Given the description of an element on the screen output the (x, y) to click on. 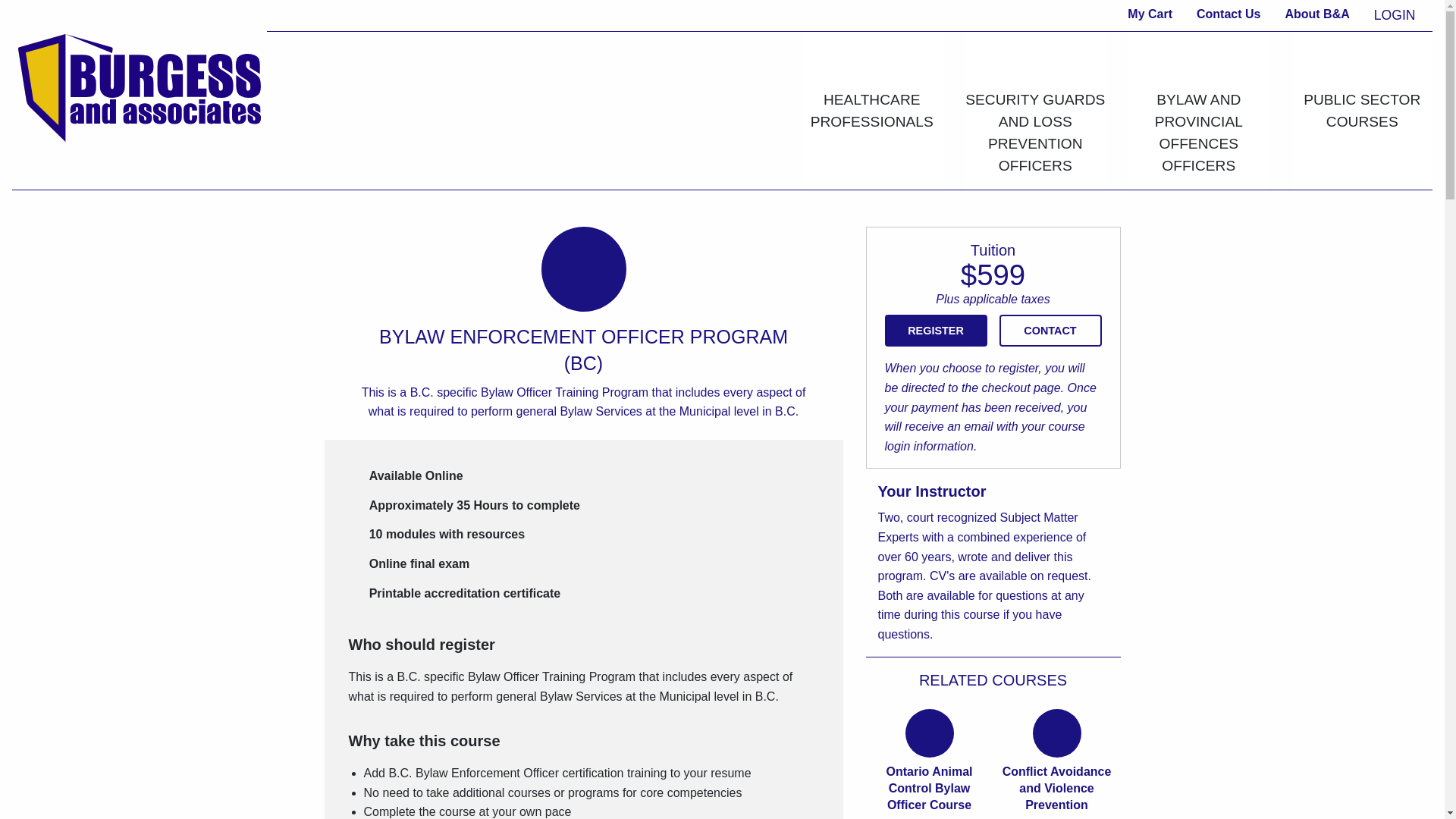
BYLAW AND PROVINCIAL OFFENCES OFFICERS (1198, 108)
HEALTHCARE PROFESSIONALS (872, 87)
PUBLIC SECTOR COURSES (1362, 87)
Contact Us (1228, 15)
SECURITY GUARDS AND LOSS PREVENTION OFFICERS (1034, 108)
My Cart (1150, 15)
